Given the description of an element on the screen output the (x, y) to click on. 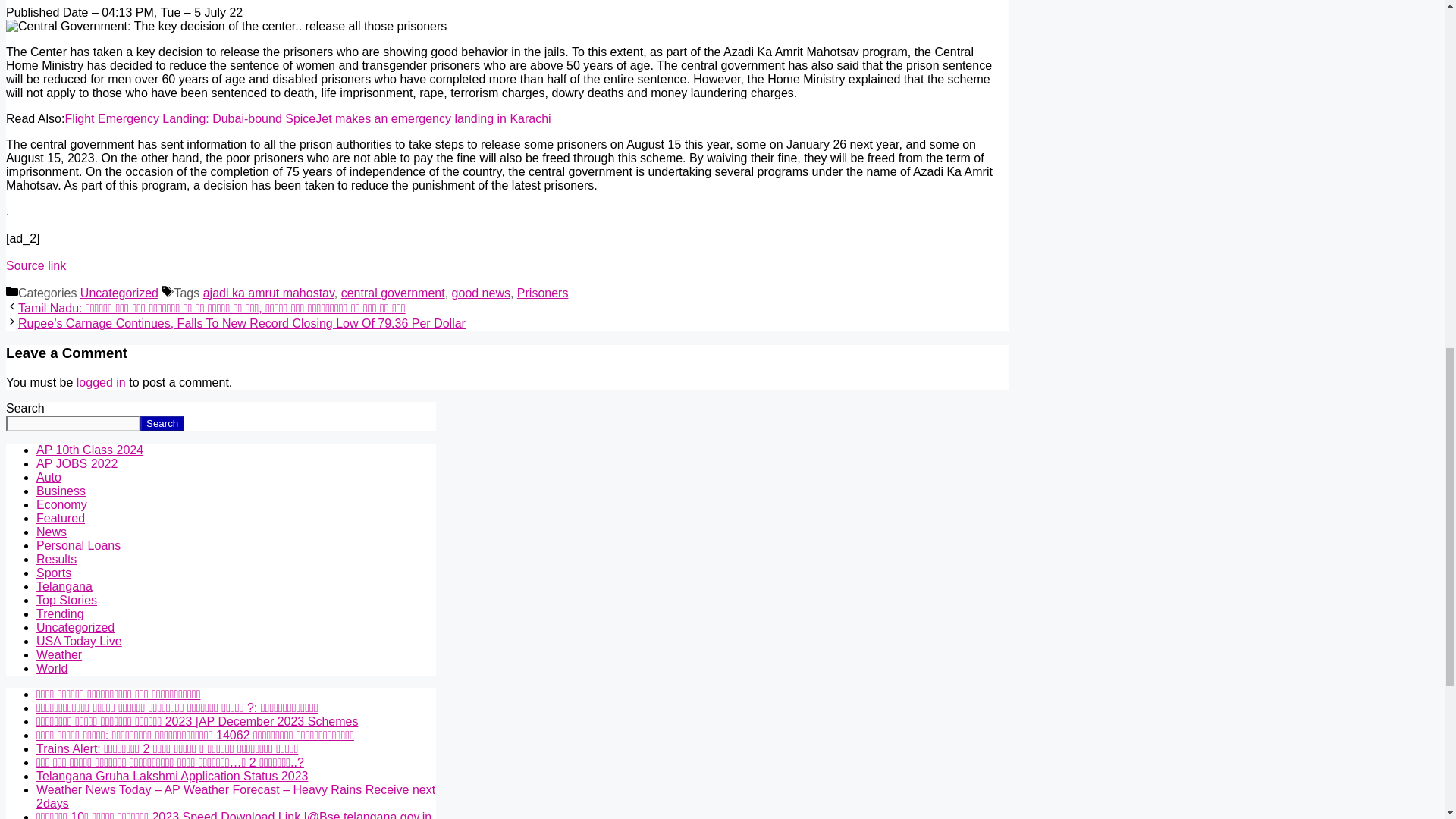
Telangana (64, 585)
Featured (60, 517)
Business (60, 490)
Top Stories (66, 599)
Trending (60, 613)
Personal Loans (78, 545)
Auto (48, 477)
Economy (61, 504)
Prisoners (542, 292)
central government (392, 292)
Results (56, 558)
Scroll back to top (1406, 720)
Sports (53, 572)
Uncategorized (75, 626)
